Given the description of an element on the screen output the (x, y) to click on. 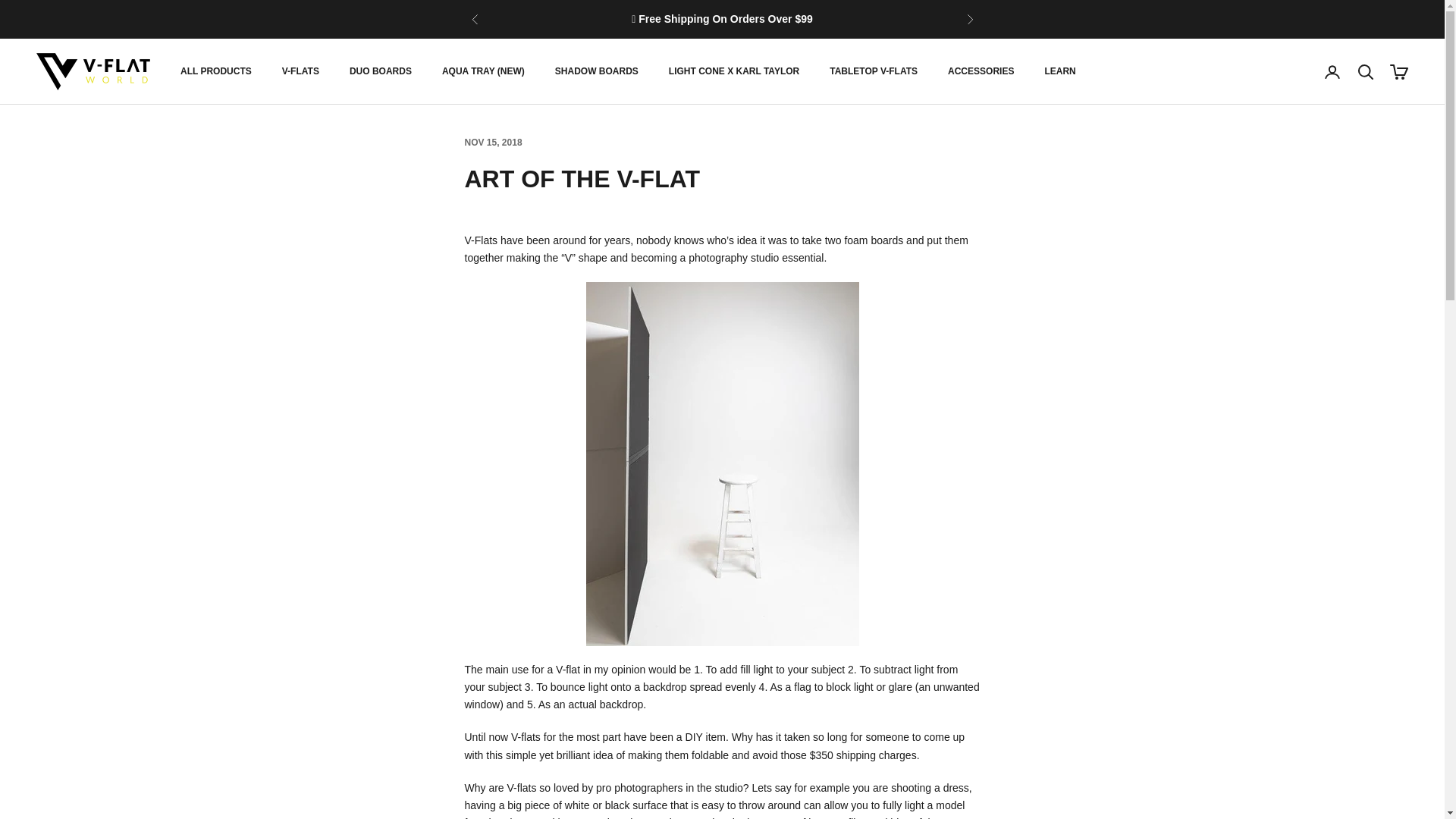
Open cart (1398, 72)
V-Flat World (92, 71)
ALL PRODUCTS (215, 70)
TABLETOP V-FLATS (873, 70)
ACCESSORIES (980, 70)
SHADOW BOARDS (596, 70)
V-FLATS (300, 70)
LIGHT CONE X KARL TAYLOR (733, 70)
Open search (1365, 72)
Open account page (1331, 72)
